Given the description of an element on the screen output the (x, y) to click on. 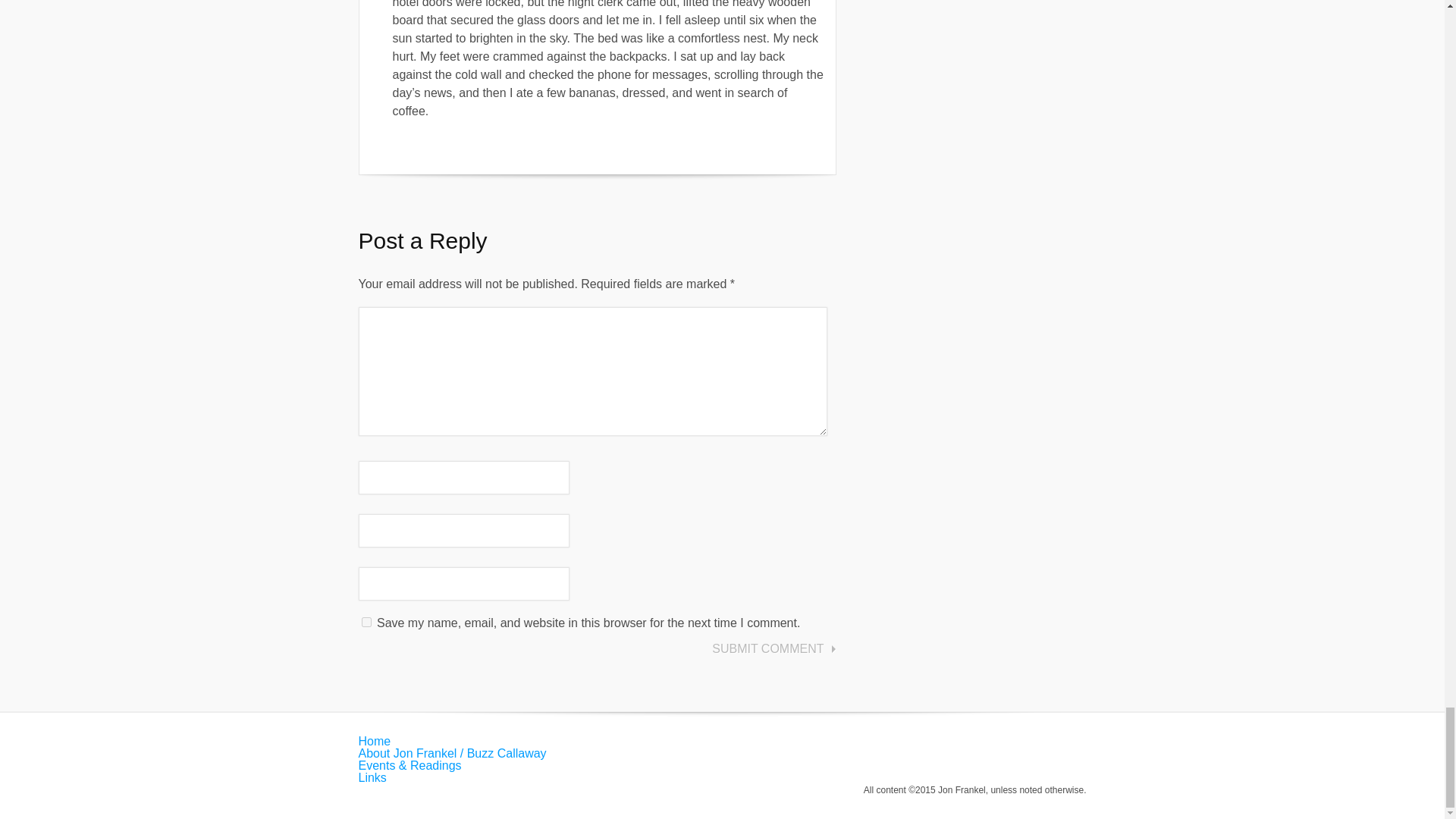
Submit Comment (771, 648)
Submit Comment (771, 648)
yes (366, 622)
